Given the description of an element on the screen output the (x, y) to click on. 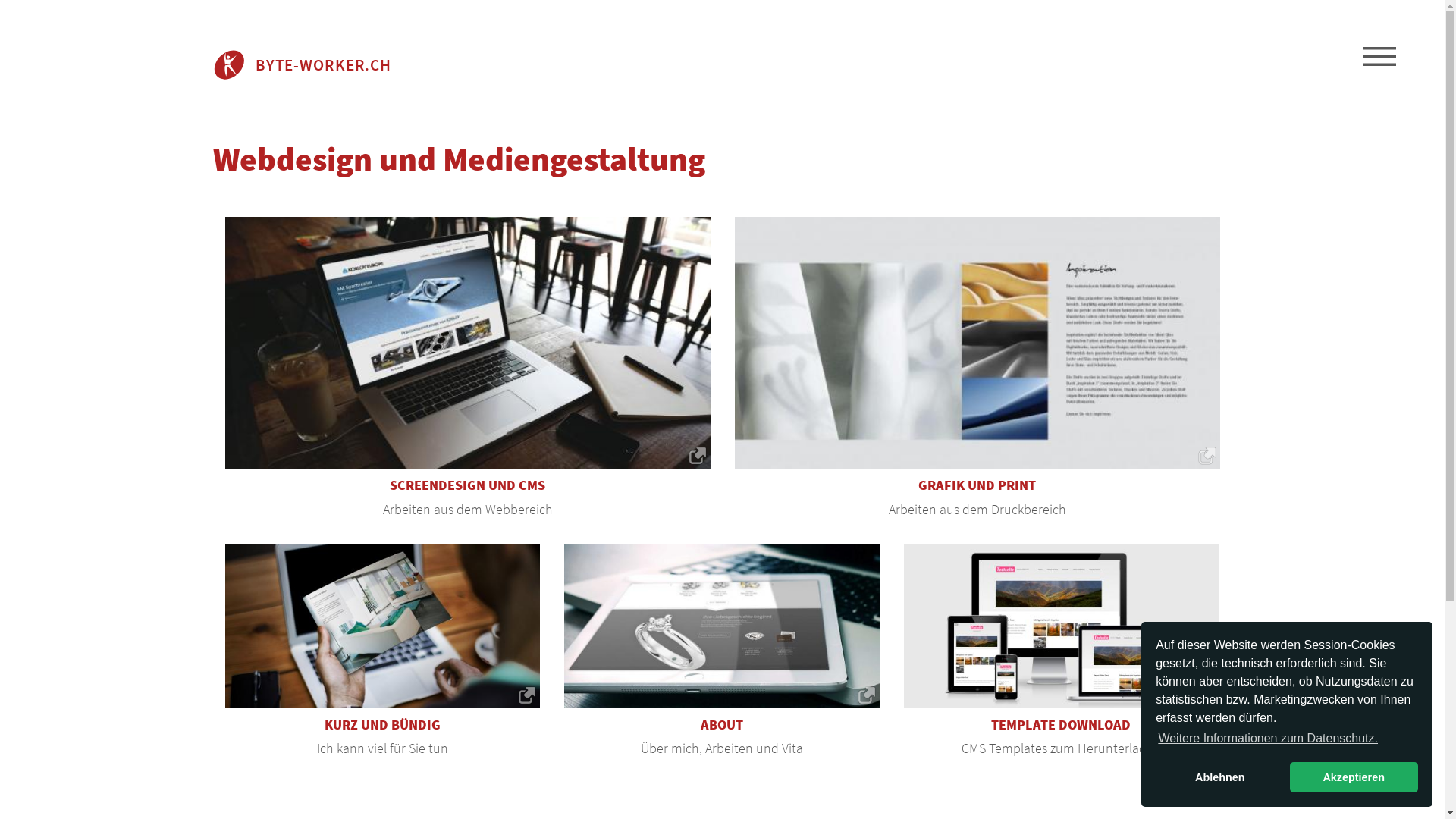
Akzeptieren Element type: text (1353, 777)
MENU Element type: text (1379, 56)
BYTE-WORKER.CH Element type: text (301, 64)
Ablehnen Element type: text (1219, 777)
Weitere Informationen zum Datenschutz. Element type: text (1267, 738)
